Given the description of an element on the screen output the (x, y) to click on. 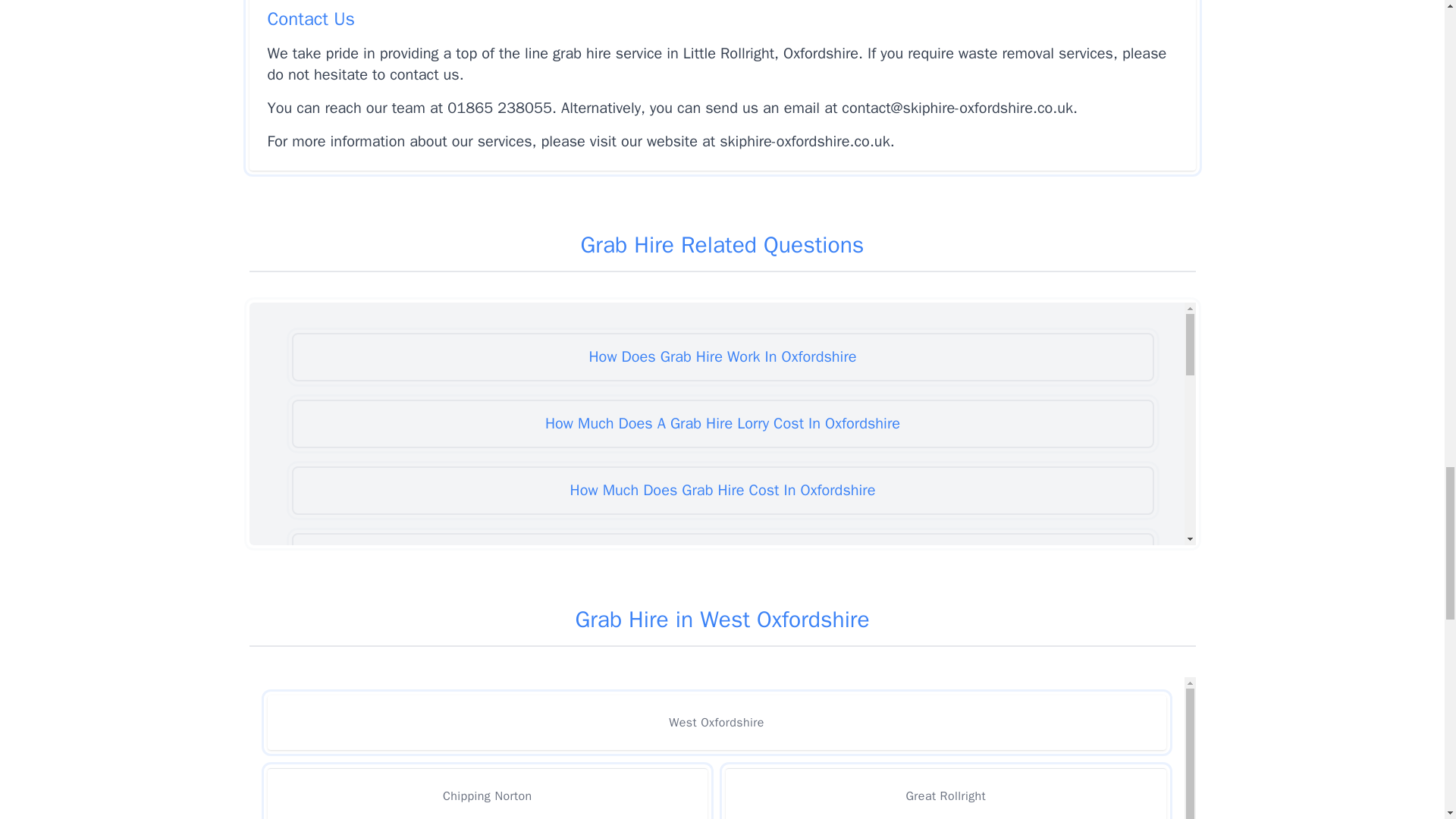
How Much Is A Grab Hire In Oxfordshire (722, 690)
How Much Does Grab Hire Cost In Oxfordshire (722, 490)
How Much Is A Grab Lorry To Hire In Oxfordshire (722, 757)
How Much For Grab Hire In Oxfordshire (722, 623)
How Does Grab Hire Work In Oxfordshire (722, 356)
How Much Does It Cost To Hire A Grab Lorry In Oxfordshire (722, 557)
How Much Is Grab Hire In Oxfordshire (722, 809)
How Much Does A Grab Hire Lorry Cost In Oxfordshire (722, 423)
